Given the description of an element on the screen output the (x, y) to click on. 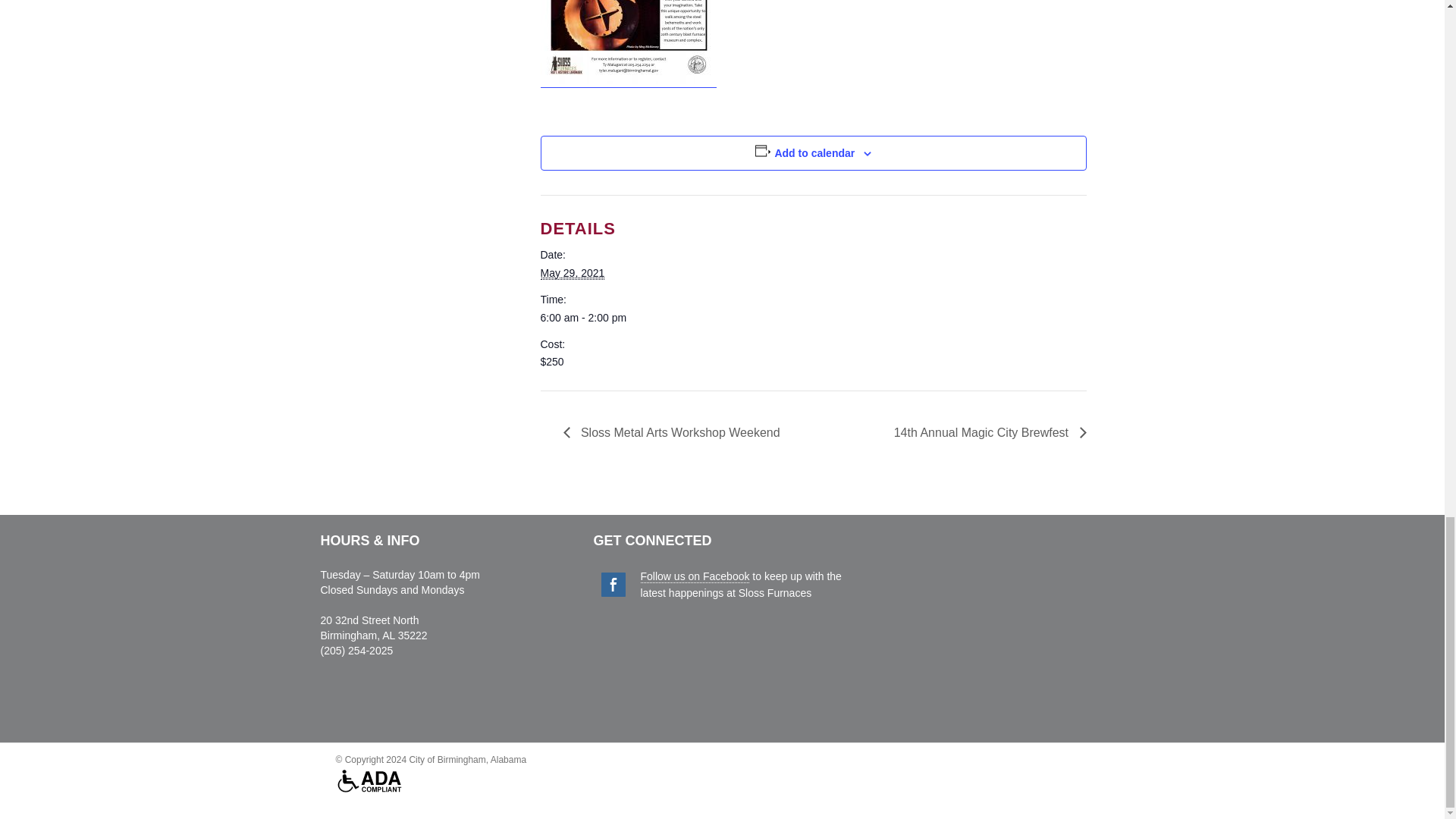
2021-05-29 (603, 317)
2021-05-29 (572, 273)
14th Annual Magic City Brewfest (985, 431)
Sloss Metal Arts Workshop Weekend (674, 431)
Add to calendar (814, 152)
